Given the description of an element on the screen output the (x, y) to click on. 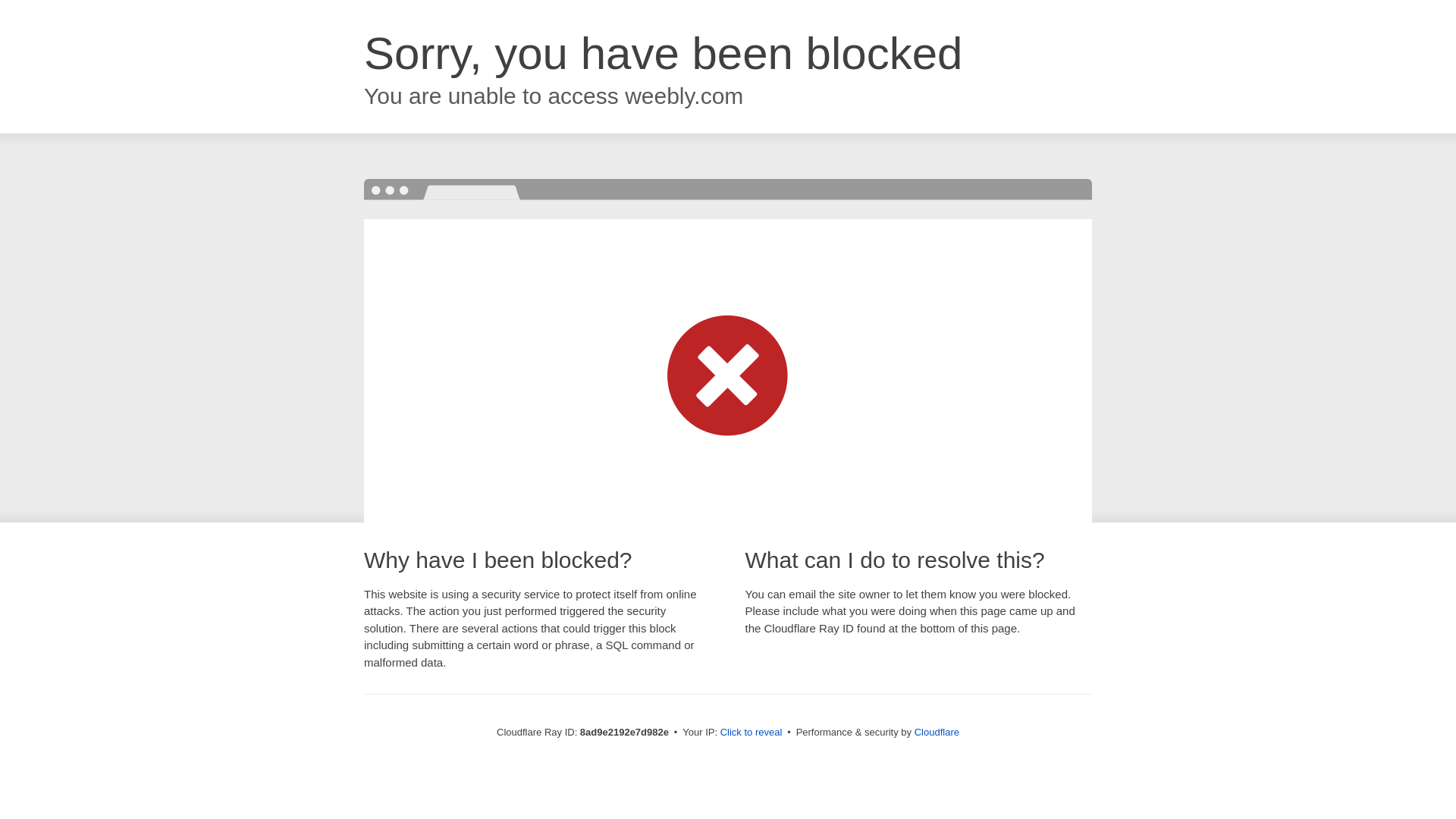
Click to reveal (751, 732)
Cloudflare (936, 731)
